Given the description of an element on the screen output the (x, y) to click on. 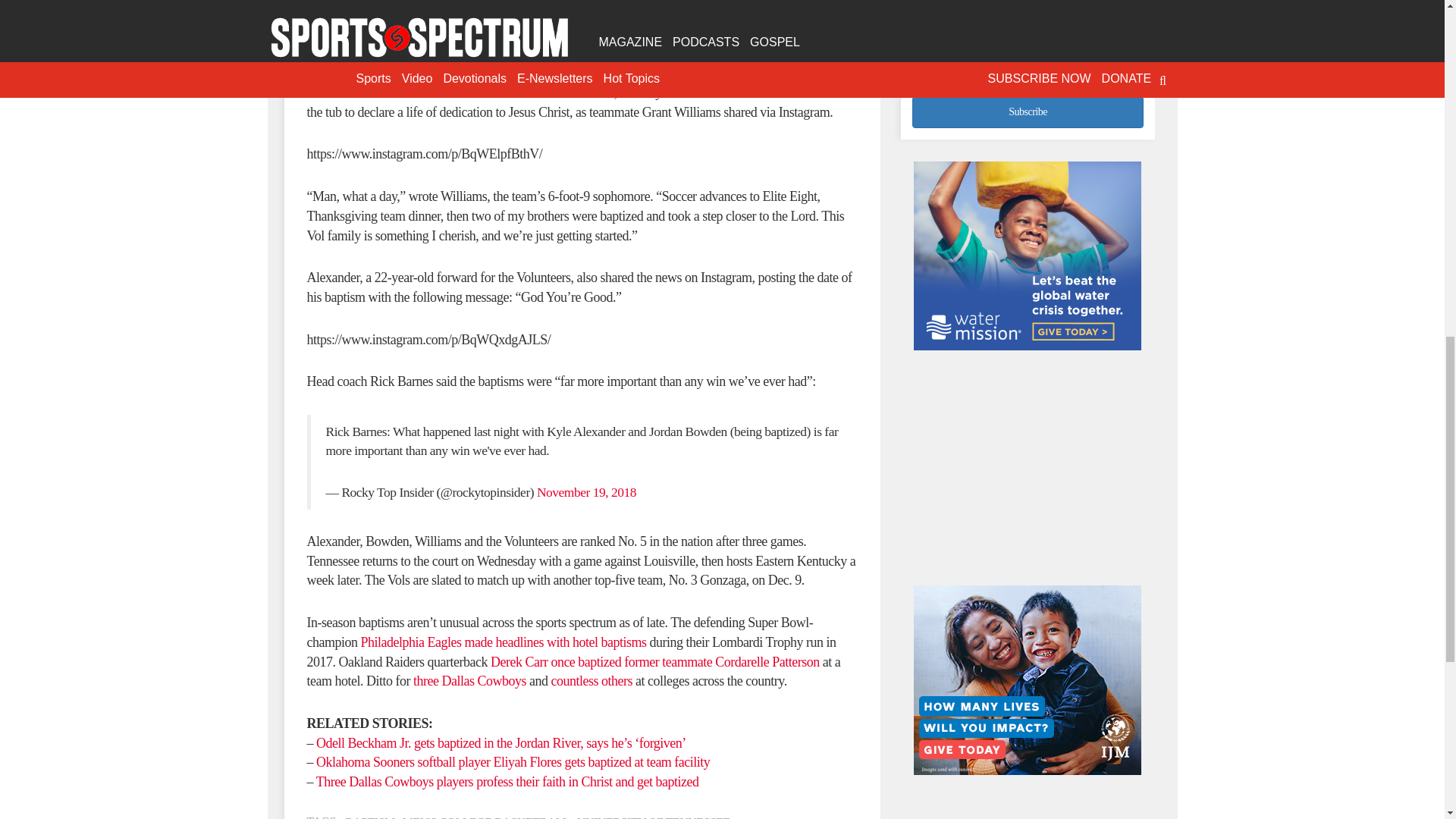
BAPTISM (369, 817)
November 19, 2018 (586, 491)
countless others (590, 680)
International Phone Number (1027, 58)
three Dallas Cowboys (469, 680)
Philadelphia Eagles made headlines with hotel baptisms (502, 642)
